Given the description of an element on the screen output the (x, y) to click on. 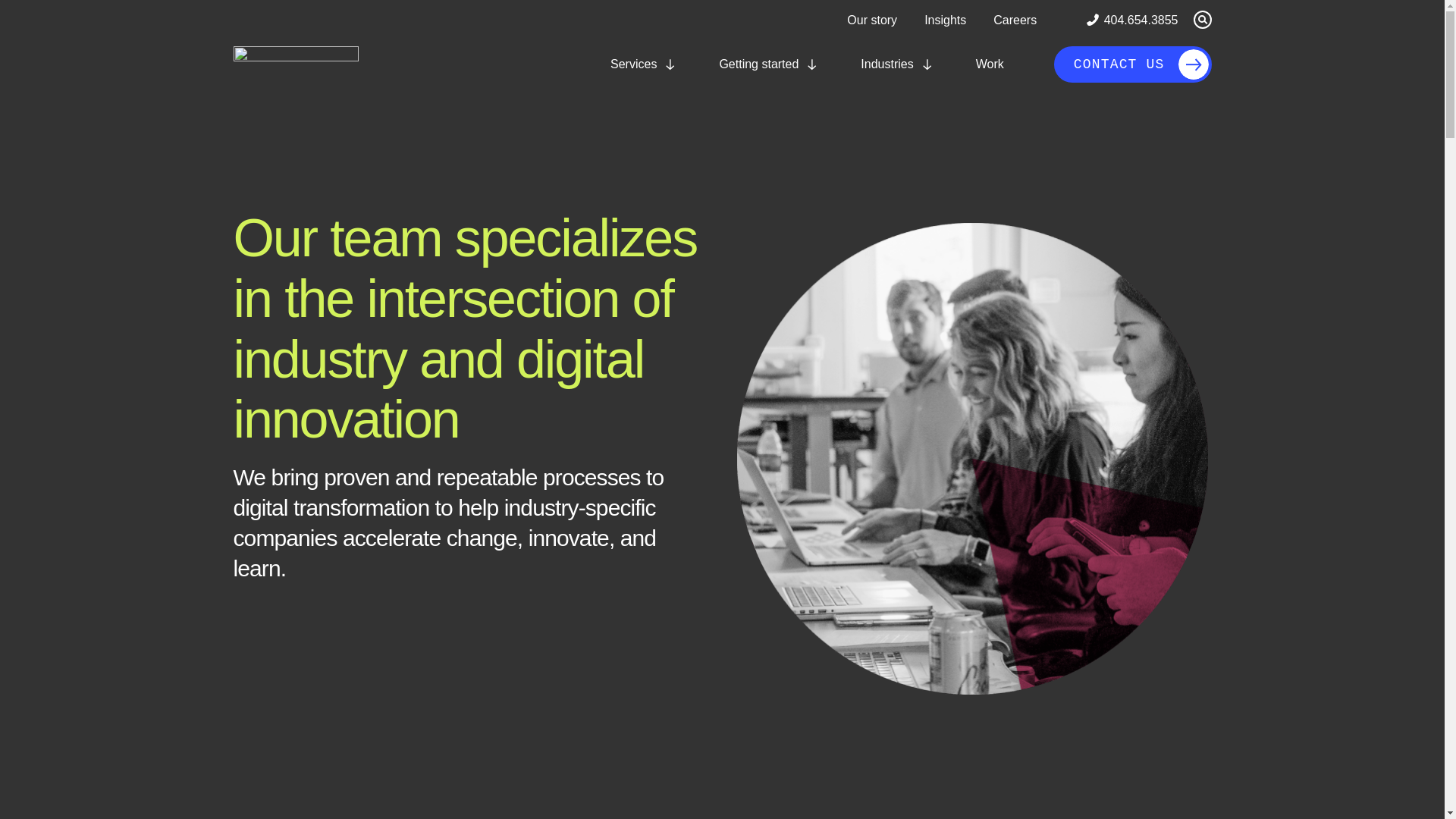
Industries (897, 64)
Careers (1014, 19)
Getting started (769, 64)
Insights (940, 19)
404.654.3855 (945, 19)
Services (1131, 20)
Our story (644, 64)
Search (871, 19)
